Given the description of an element on the screen output the (x, y) to click on. 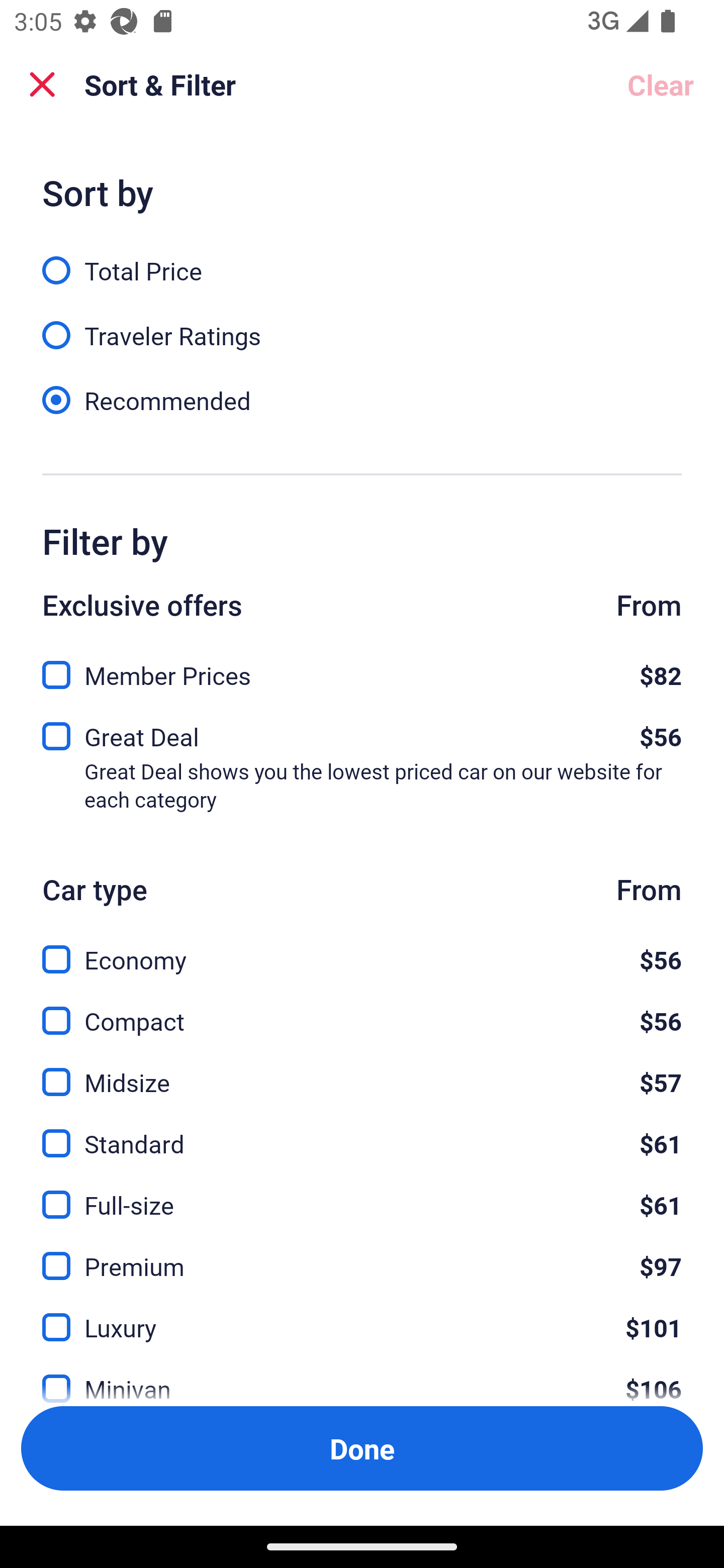
Close Sort and Filter (42, 84)
Clear (660, 84)
Total Price (361, 259)
Traveler Ratings (361, 324)
Member Prices, $82 Member Prices $82 (361, 669)
Economy, $56 Economy $56 (361, 947)
Compact, $56 Compact $56 (361, 1008)
Midsize, $57 Midsize $57 (361, 1070)
Standard, $61 Standard $61 (361, 1132)
Full-size, $61 Full-size $61 (361, 1193)
Premium, $97 Premium $97 (361, 1254)
Luxury, $101 Luxury $101 (361, 1315)
Minivan, $106 Minivan $106 (361, 1376)
Apply and close Sort and Filter Done (361, 1448)
